Given the description of an element on the screen output the (x, y) to click on. 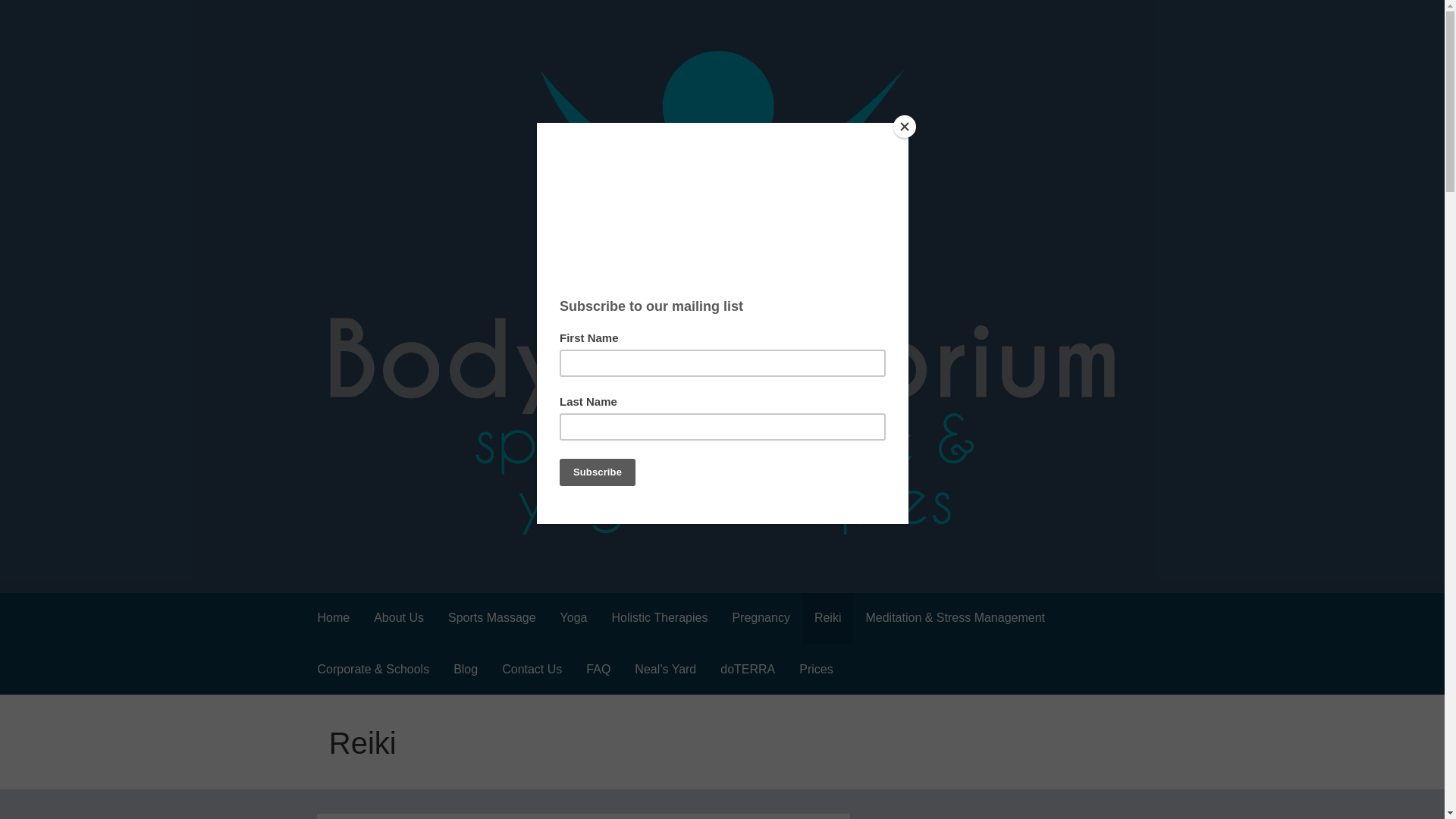
Sports Massage (491, 617)
Body Equilibrium Sports Massage and Therapies in Daventry (660, 561)
Prices (815, 668)
Blog (465, 668)
Home (332, 617)
FAQ (598, 668)
Yoga (573, 617)
About Us (398, 617)
Holistic Therapies (659, 617)
doTERRA (747, 668)
